Given the description of an element on the screen output the (x, y) to click on. 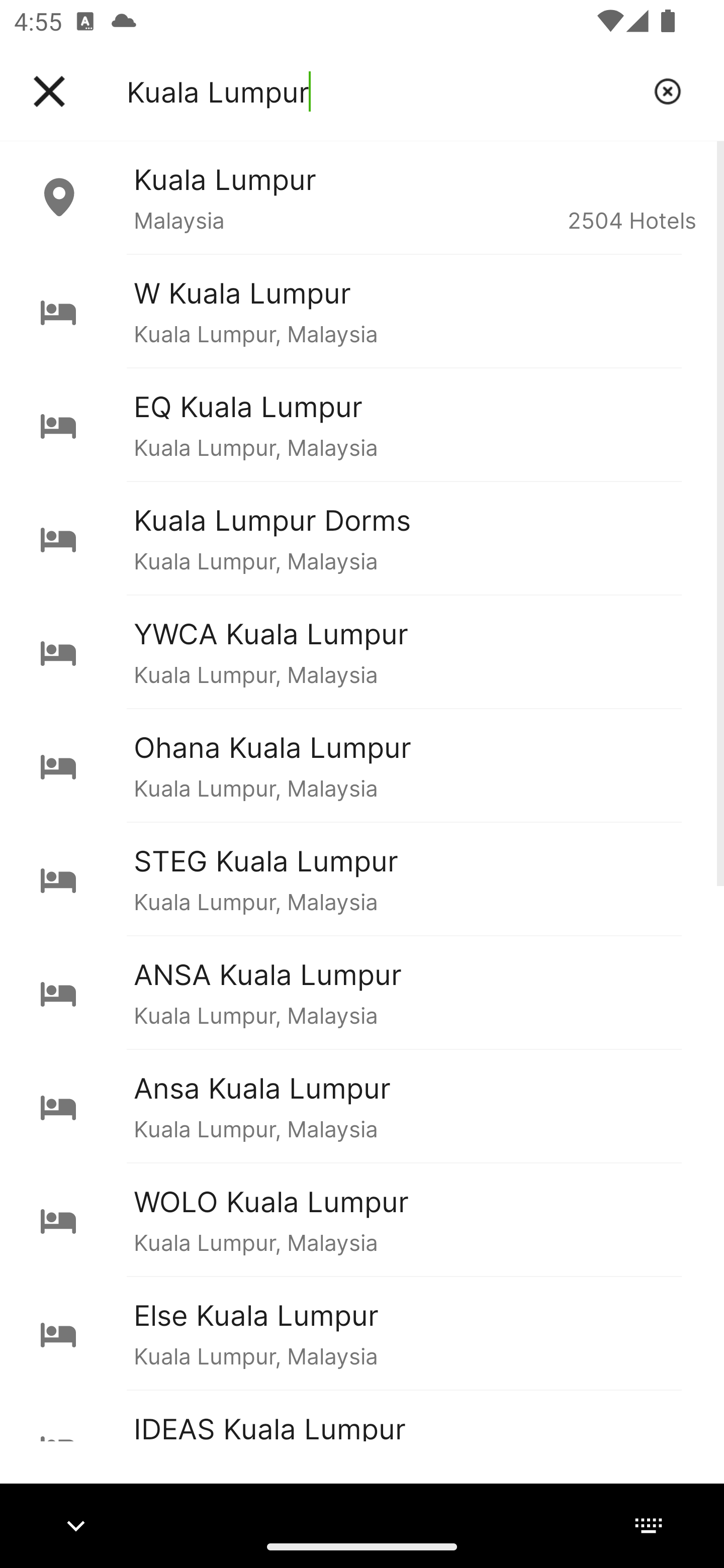
Kuala Lumpur (382, 91)
Kuala Lumpur Malaysia 2504 Hotels (362, 197)
W Kuala Lumpur Kuala Lumpur, Malaysia (362, 310)
EQ Kuala Lumpur Kuala Lumpur, Malaysia (362, 424)
Kuala Lumpur Dorms Kuala Lumpur, Malaysia (362, 537)
YWCA Kuala Lumpur Kuala Lumpur, Malaysia (362, 651)
Ohana Kuala Lumpur Kuala Lumpur, Malaysia (362, 764)
STEG Kuala Lumpur Kuala Lumpur, Malaysia (362, 878)
ANSA Kuala Lumpur Kuala Lumpur, Malaysia (362, 992)
Ansa Kuala Lumpur Kuala Lumpur, Malaysia (362, 1105)
WOLO Kuala Lumpur Kuala Lumpur, Malaysia (362, 1219)
Else Kuala Lumpur Kuala Lumpur, Malaysia (362, 1332)
